Given the description of an element on the screen output the (x, y) to click on. 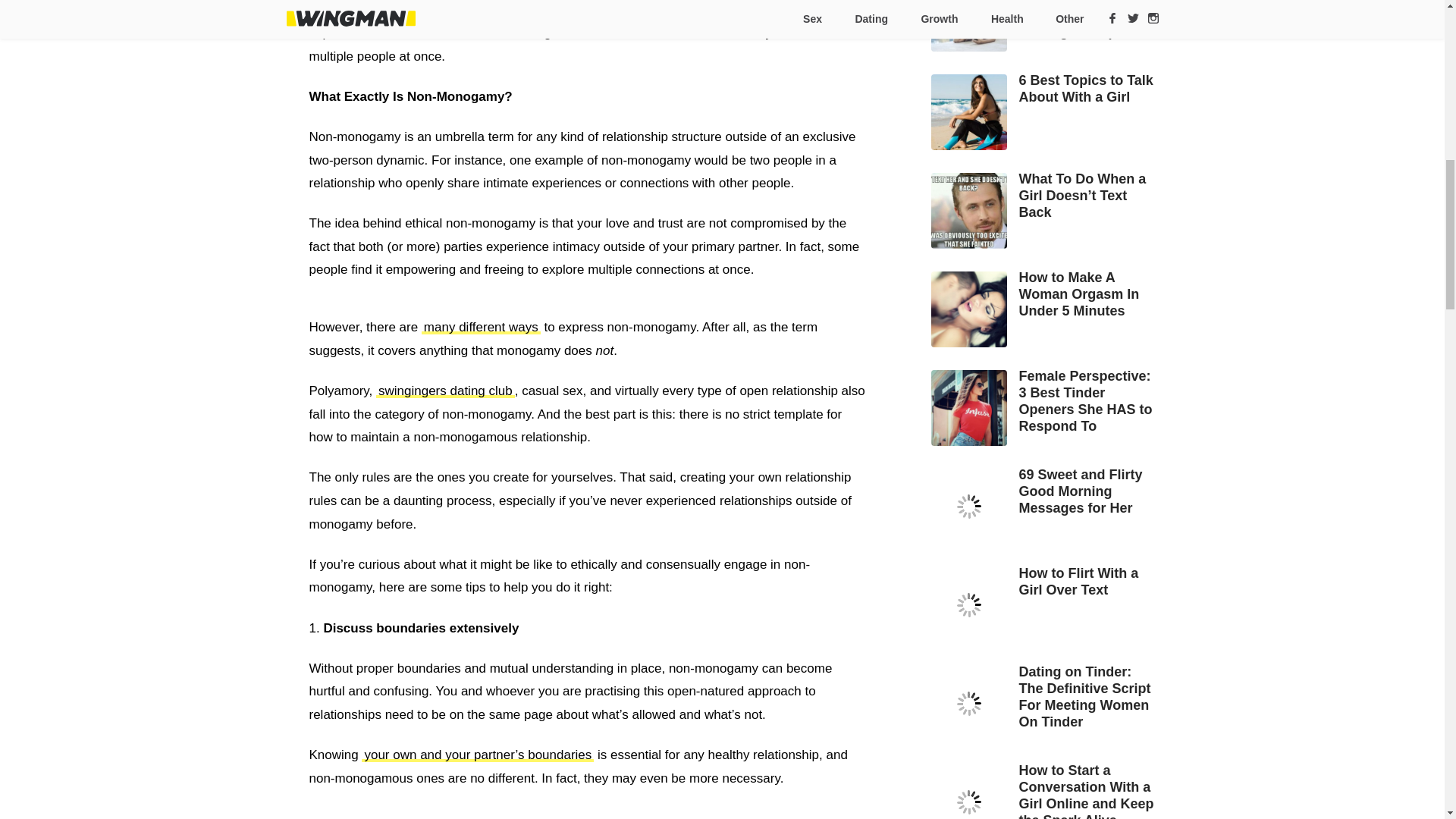
many different ways (481, 327)
How to Make A Woman Orgasm In Under 5 Minutes (1044, 294)
6 Best Topics to Talk About With a Girl (1044, 88)
swingingers dating club (445, 391)
69 Sweet and Flirty Good Morning Messages for Her (1044, 491)
